Given the description of an element on the screen output the (x, y) to click on. 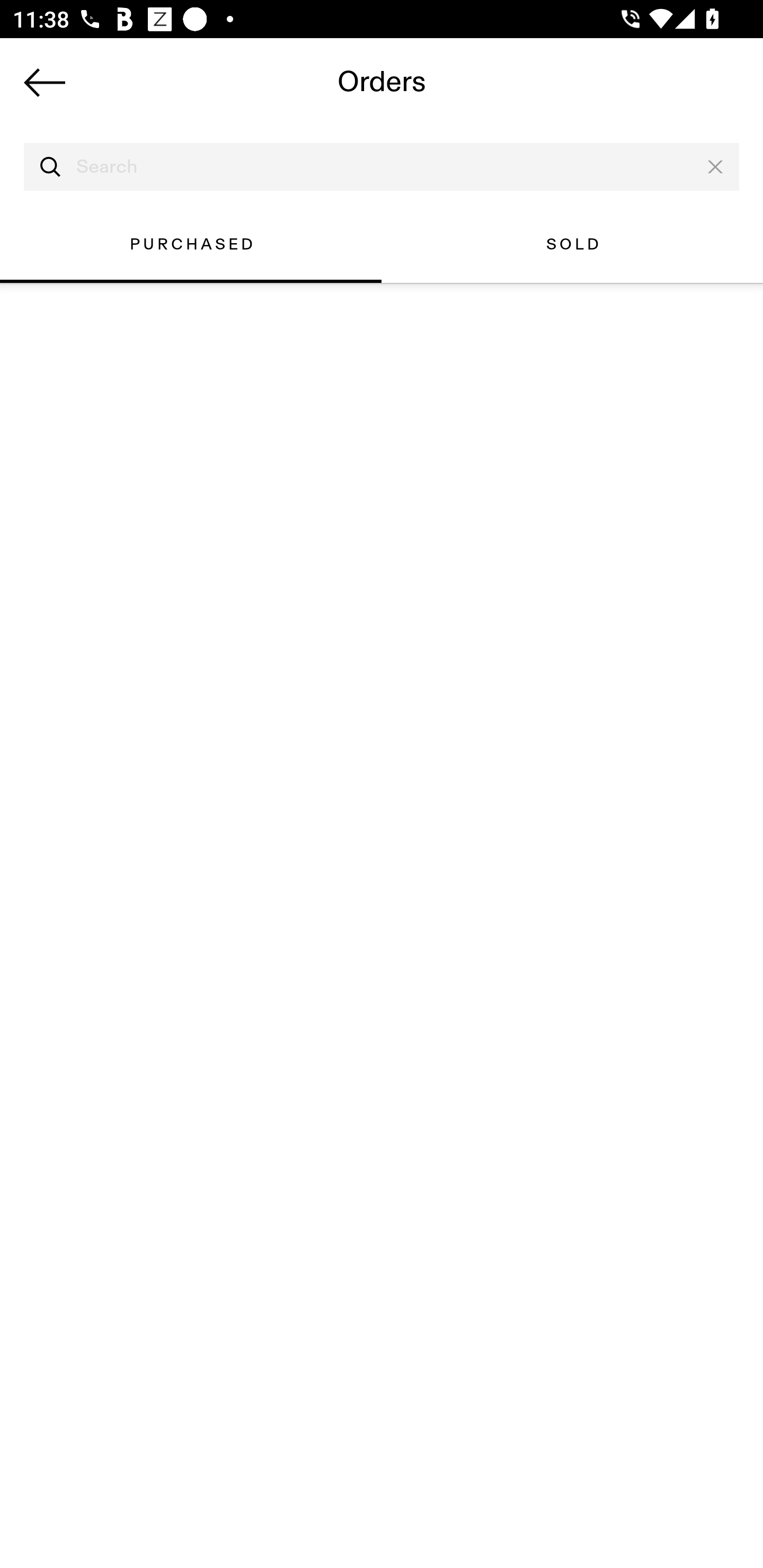
Navigate up (44, 82)
Search (381, 166)
SOLD (572, 244)
